Given the description of an element on the screen output the (x, y) to click on. 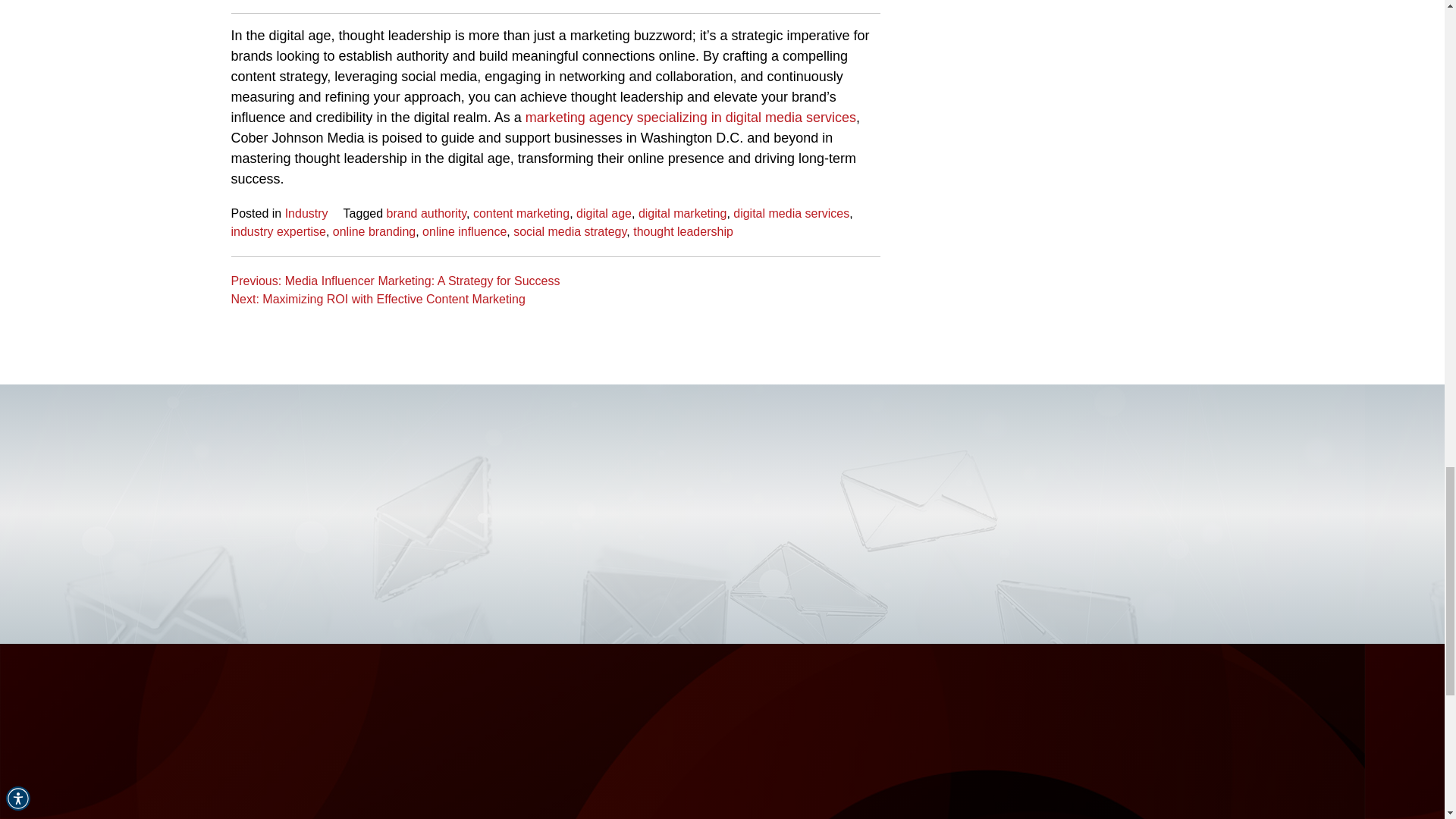
social media strategy (569, 230)
digital media services (790, 212)
Next: Maximizing ROI with Effective Content Marketing (377, 298)
online influence (464, 230)
thought leadership (683, 230)
online branding (373, 230)
industry expertise (277, 230)
Previous: Media Influencer Marketing: A Strategy for Success (394, 280)
brand authority (427, 212)
Industry (307, 212)
digital age (603, 212)
digital marketing (682, 212)
content marketing (521, 212)
marketing agency specializing in digital media services (690, 116)
